Given the description of an element on the screen output the (x, y) to click on. 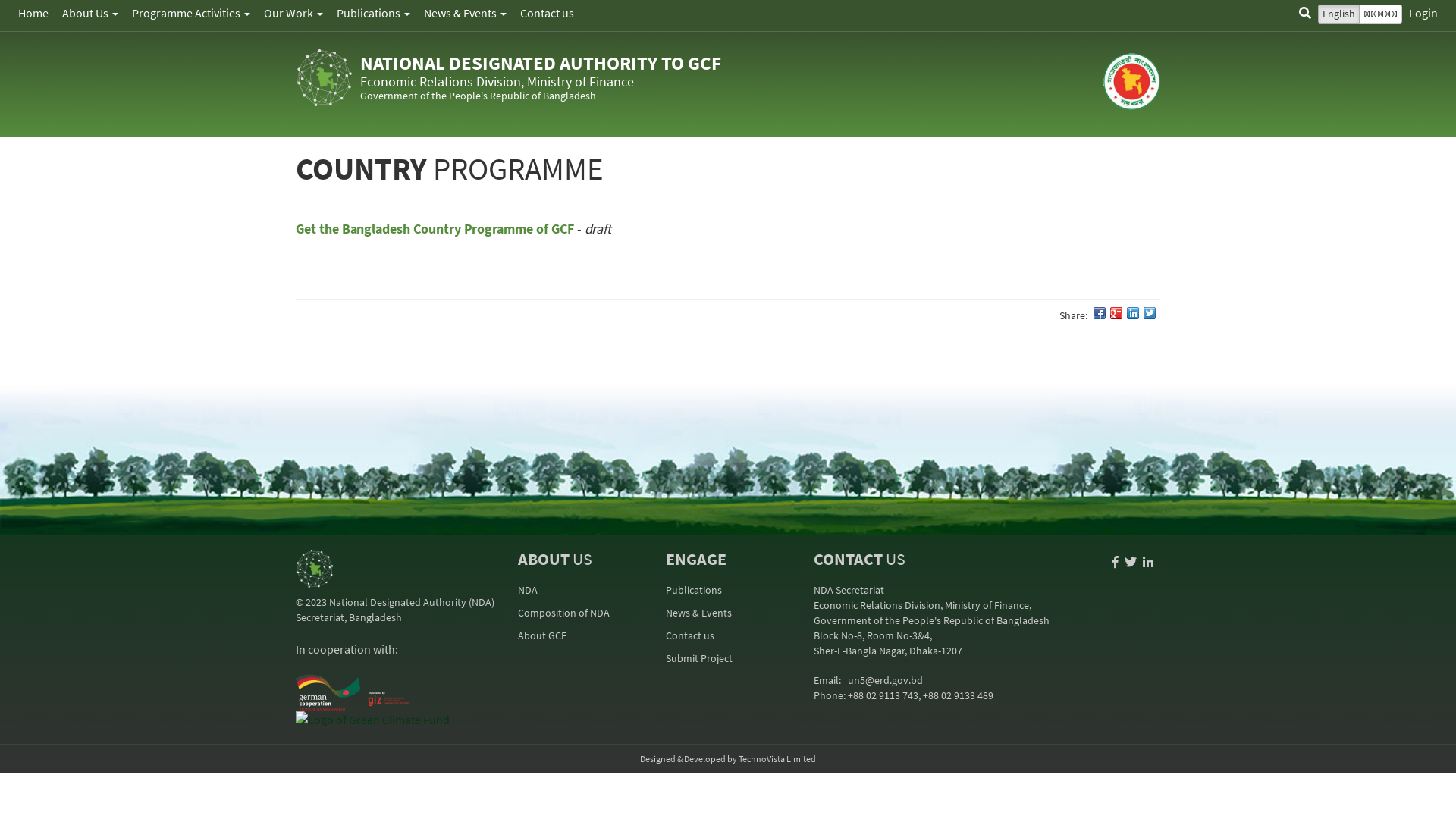
Share on Facebook Element type: hover (1099, 313)
Our Work Element type: text (293, 12)
Contact us Element type: text (546, 12)
Green Climate Fund Element type: hover (372, 718)
Home Element type: text (33, 12)
Programme Activities Element type: text (191, 12)
Share on Linkedin Element type: hover (1132, 313)
Publications Element type: text (693, 589)
Composition of NDA Element type: text (562, 612)
Get the Bangladesh Country Programme of GCF Element type: text (434, 228)
About Us Element type: text (90, 12)
News & Events Element type: text (698, 612)
Submit Project Element type: text (698, 658)
Publications Element type: text (373, 12)
Contact us Element type: text (689, 635)
Facebook page Element type: text (1116, 561)
NATIONAL DESIGNATED AUTHORITY TO GCF Element type: text (540, 62)
Share on Google+ Element type: hover (1116, 313)
English Element type: text (1338, 13)
NDA Element type: text (526, 589)
LinkedIn profile Element type: text (1147, 561)
TechnoVista Limited Element type: text (776, 758)
Share on Twitter Element type: hover (1149, 313)
Login Element type: text (1423, 12)
Twitter profile Element type: text (1131, 561)
About GCF Element type: text (541, 635)
Search Element type: text (1304, 12)
News & Events Element type: text (465, 12)
